Given the description of an element on the screen output the (x, y) to click on. 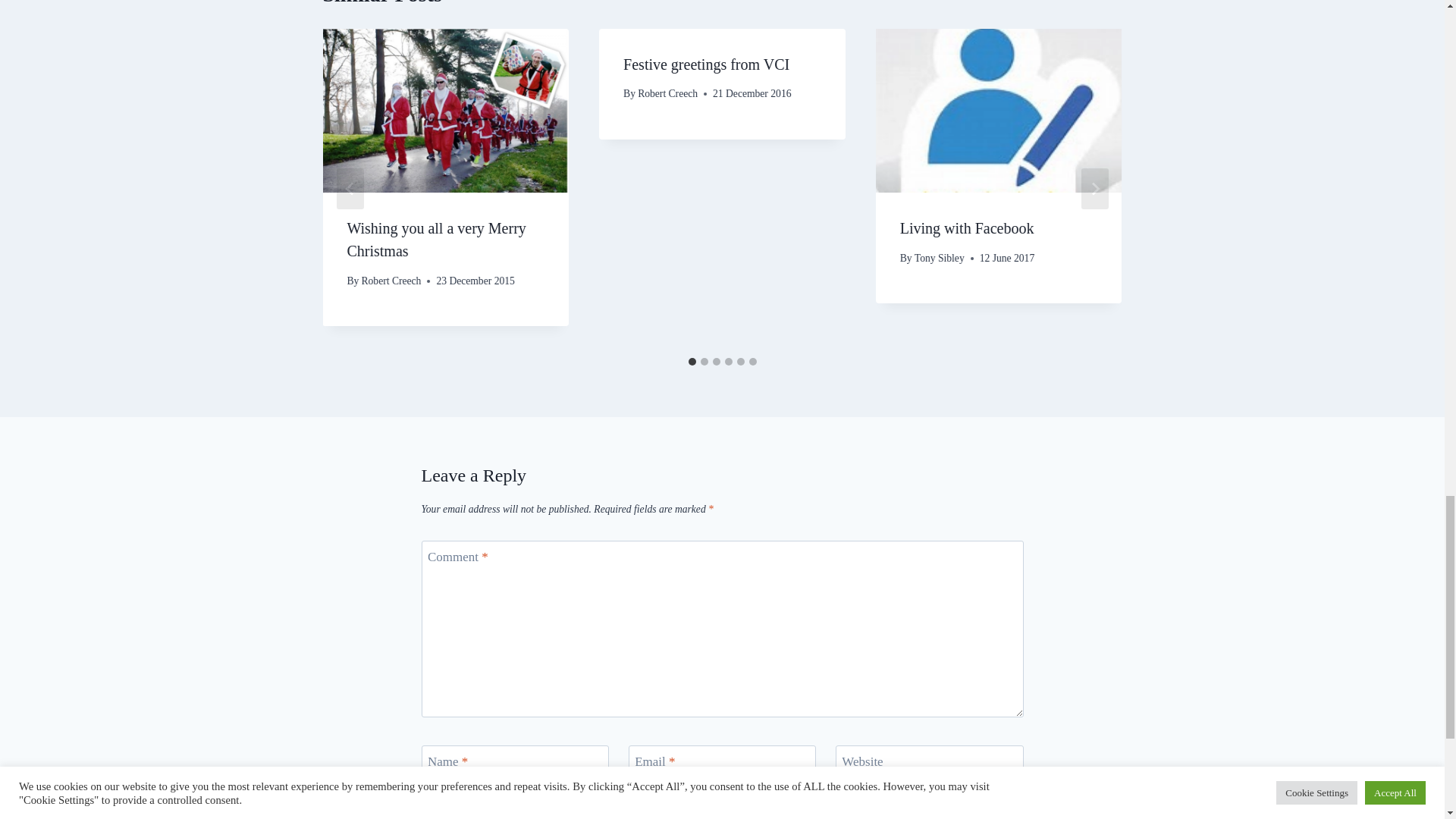
yes (426, 804)
